Given the description of an element on the screen output the (x, y) to click on. 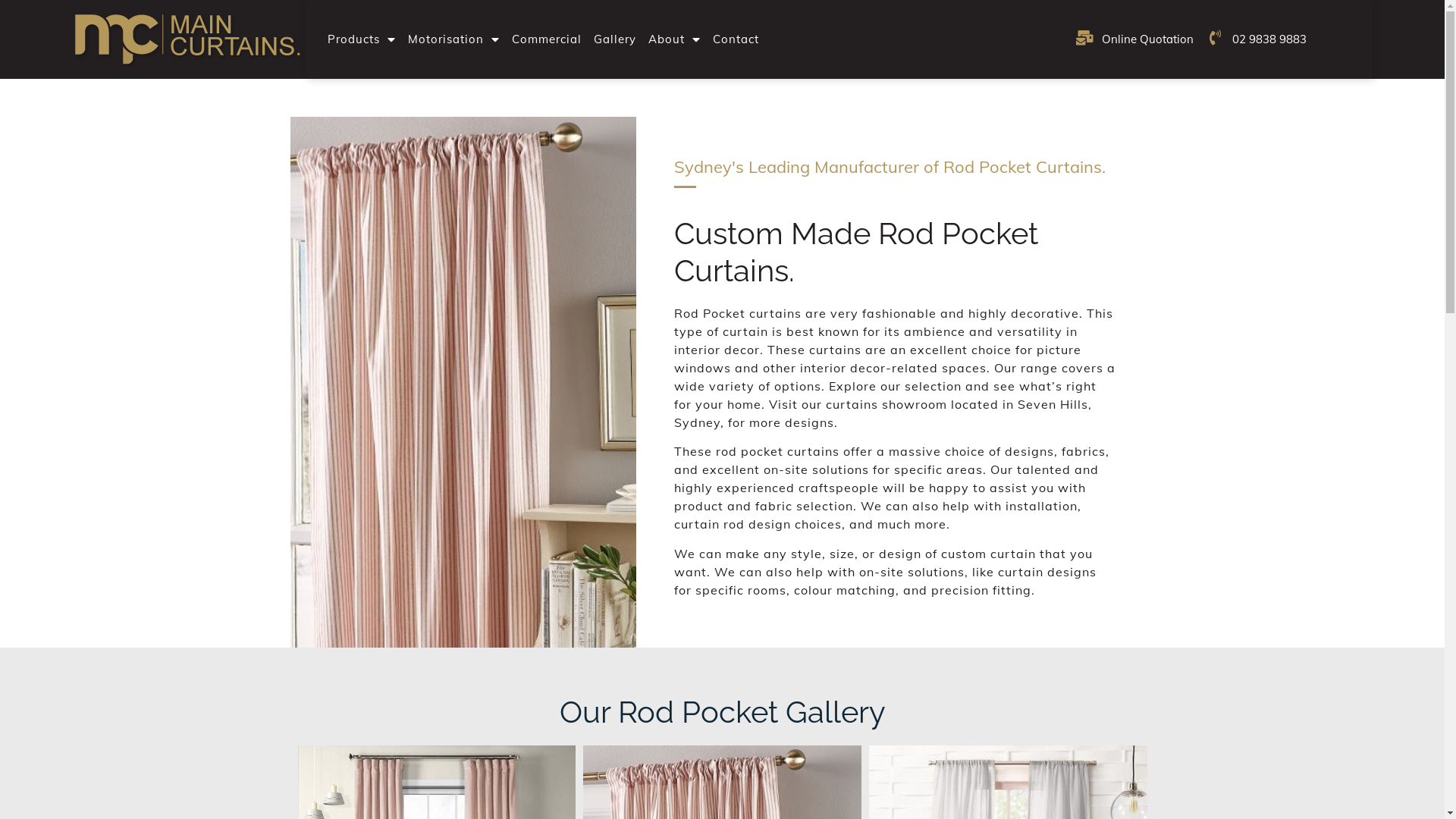
About Element type: text (674, 39)
02 9838 9883 Element type: text (1255, 39)
Products Element type: text (361, 39)
Online Quotation Element type: text (1134, 39)
Commercial Element type: text (546, 39)
Gallery Element type: text (614, 39)
Motorisation Element type: text (453, 39)
Contact Element type: text (735, 39)
